Given the description of an element on the screen output the (x, y) to click on. 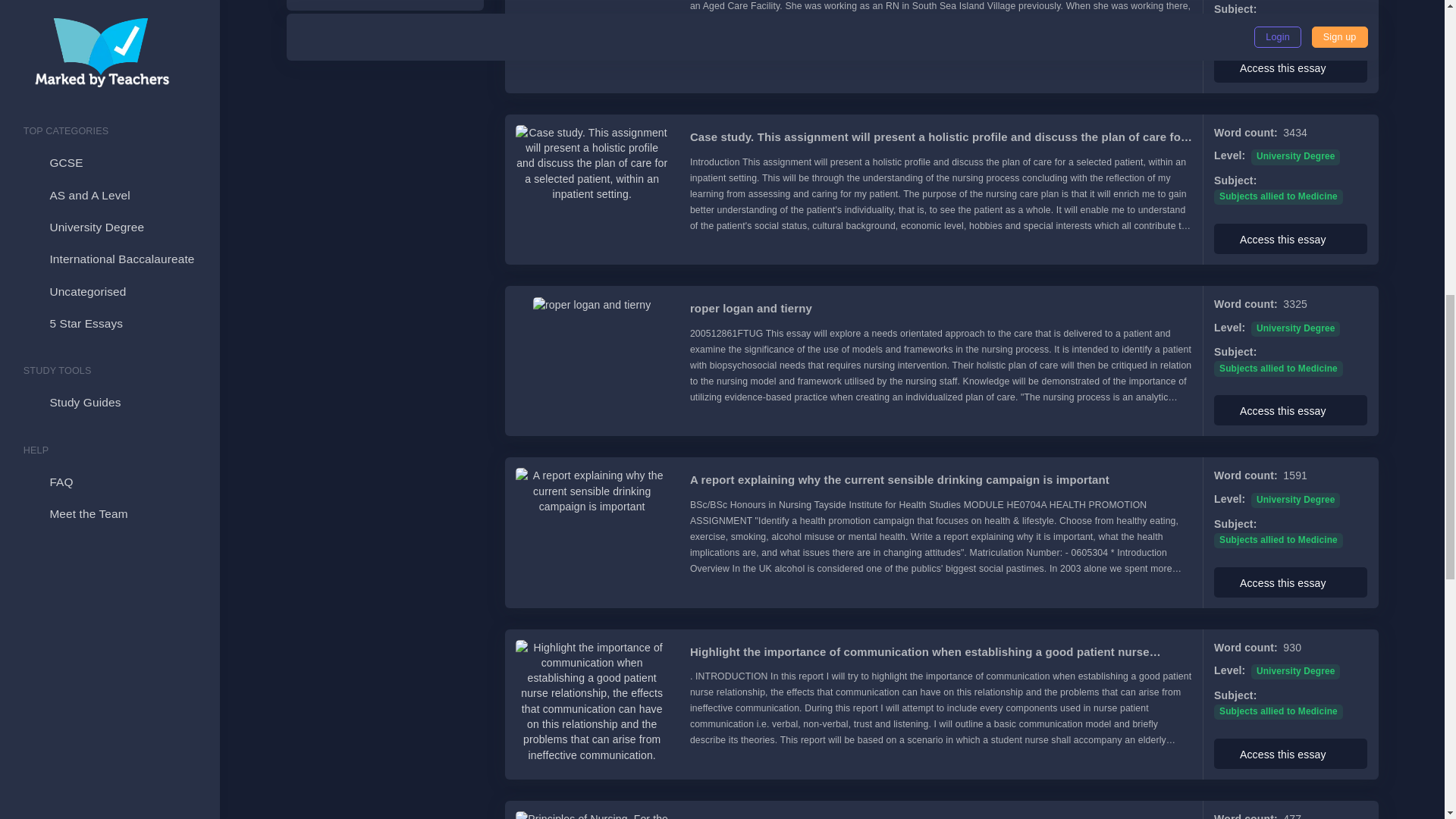
Access this essay (1290, 238)
Access this essay (1290, 67)
